Given the description of an element on the screen output the (x, y) to click on. 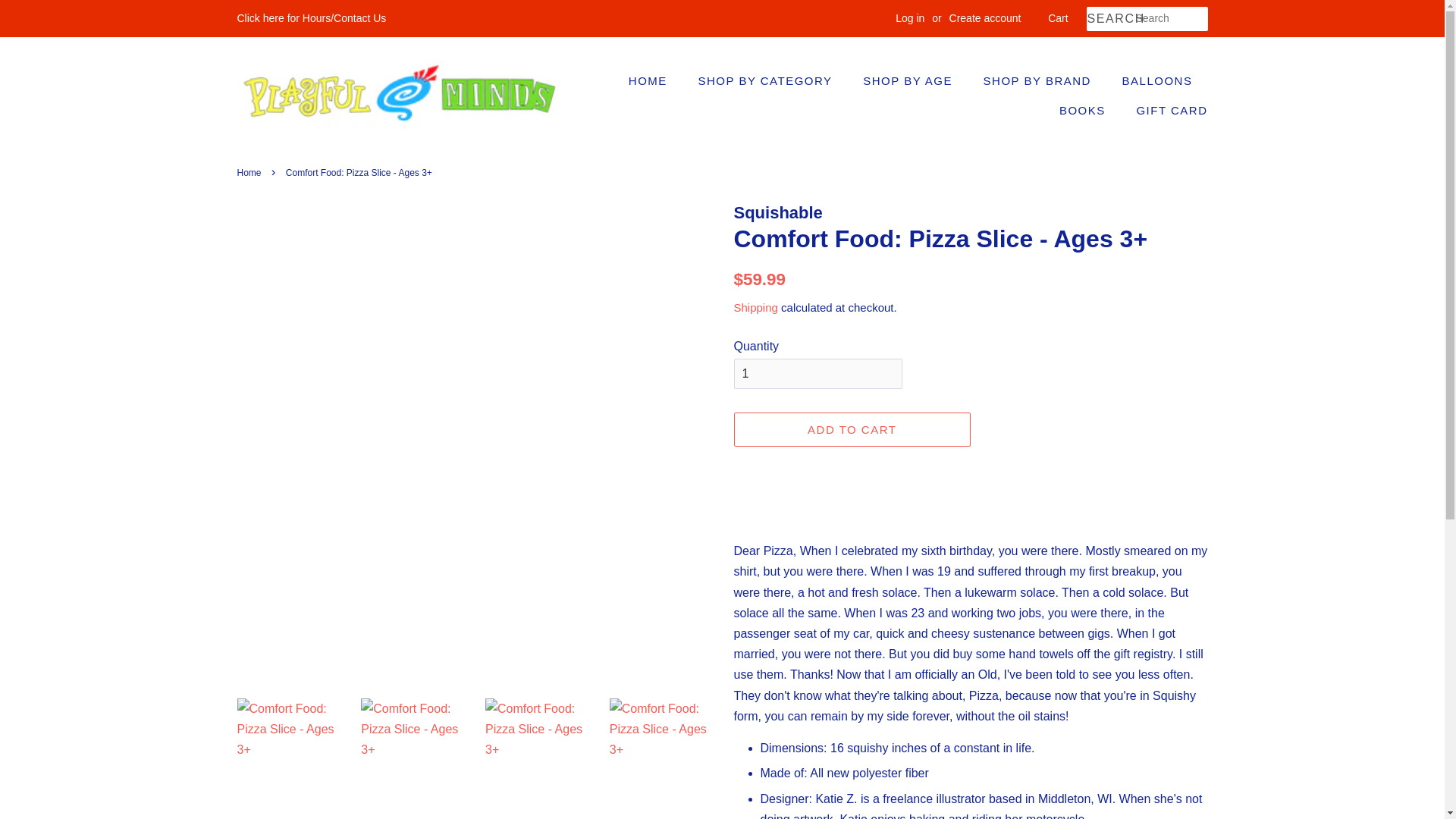
SEARCH (1110, 18)
Log in (909, 18)
Cart (1057, 18)
Create account (985, 18)
Back to the frontpage (249, 172)
1 (817, 373)
